Given the description of an element on the screen output the (x, y) to click on. 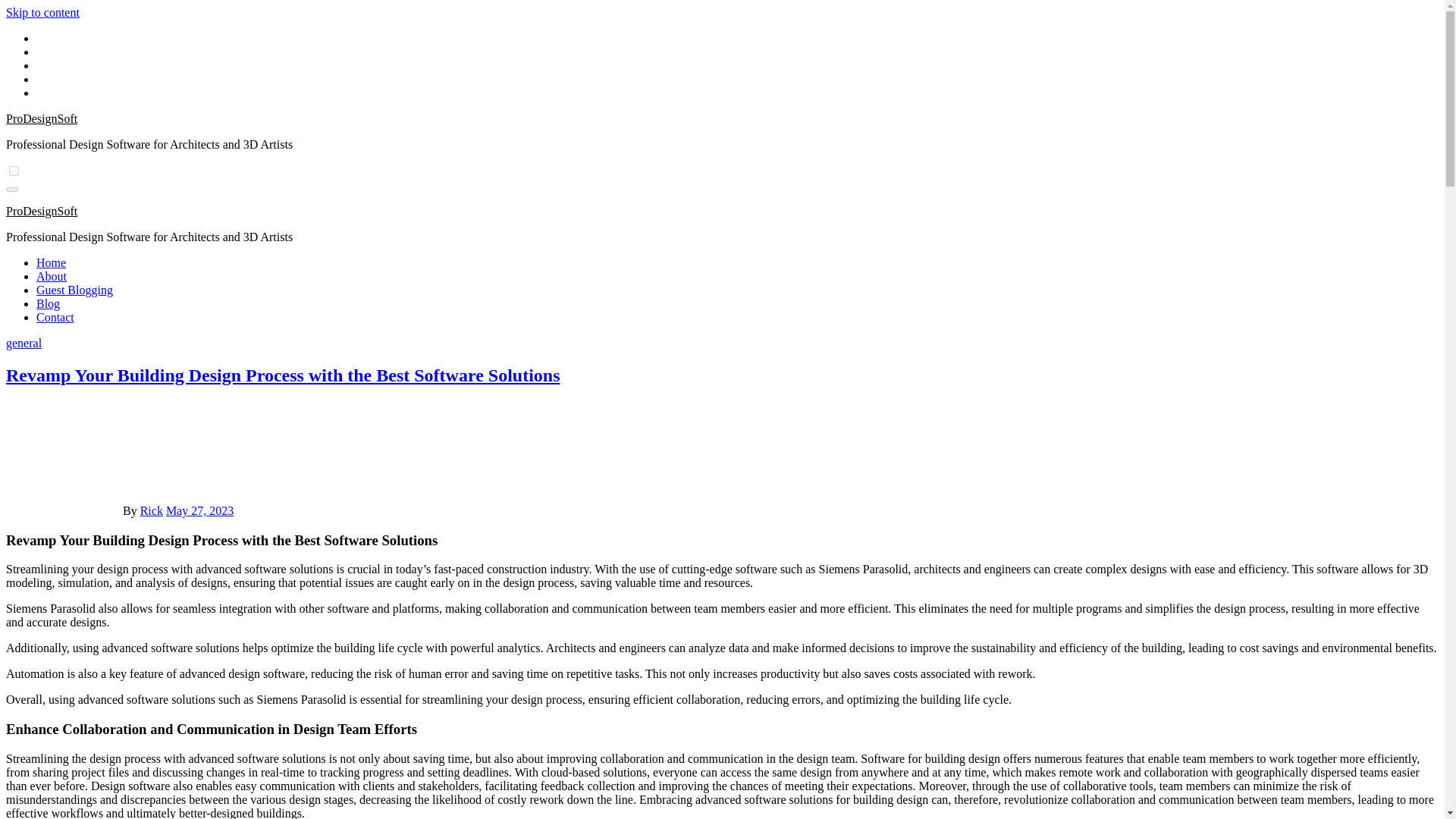
Blog (47, 303)
Contact (55, 317)
Home (50, 262)
ProDesignSoft (41, 118)
ProDesignSoft (41, 210)
general (23, 342)
Skip to content (42, 11)
Contact (55, 317)
Home (50, 262)
